Given the description of an element on the screen output the (x, y) to click on. 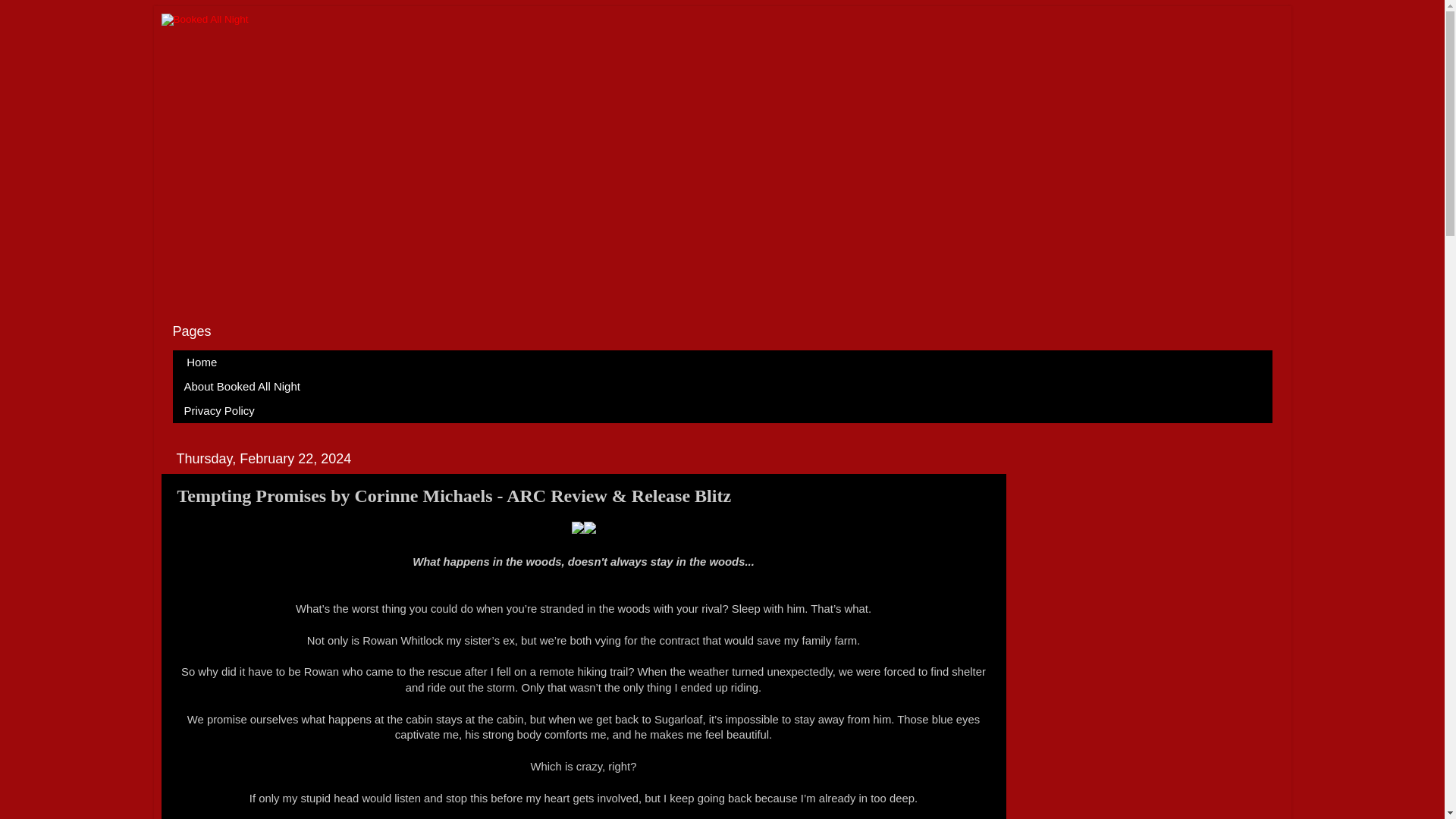
About Booked All Night (243, 386)
Privacy Policy (219, 410)
Home (201, 362)
